Given the description of an element on the screen output the (x, y) to click on. 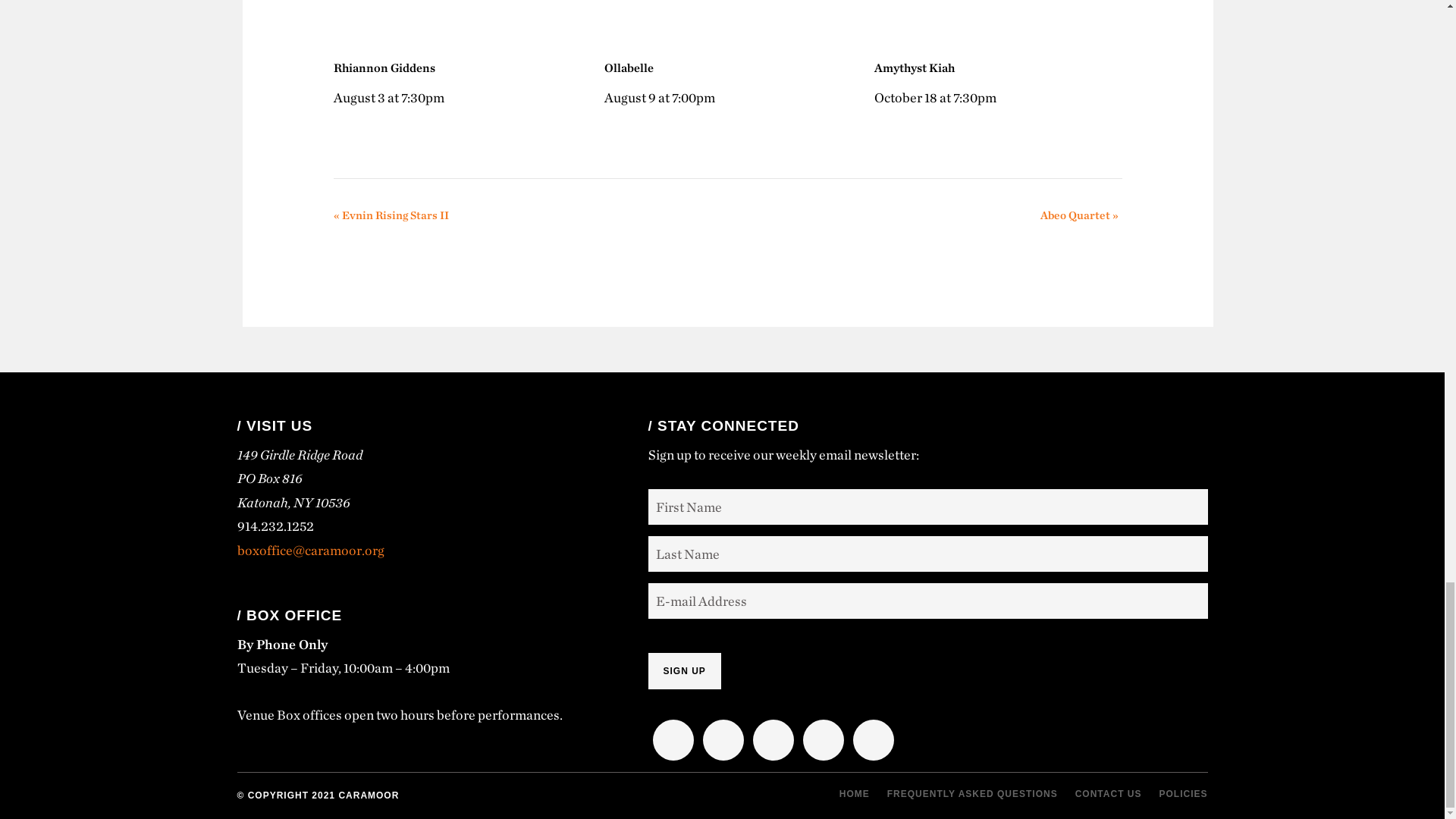
Sign Up (683, 670)
